Given the description of an element on the screen output the (x, y) to click on. 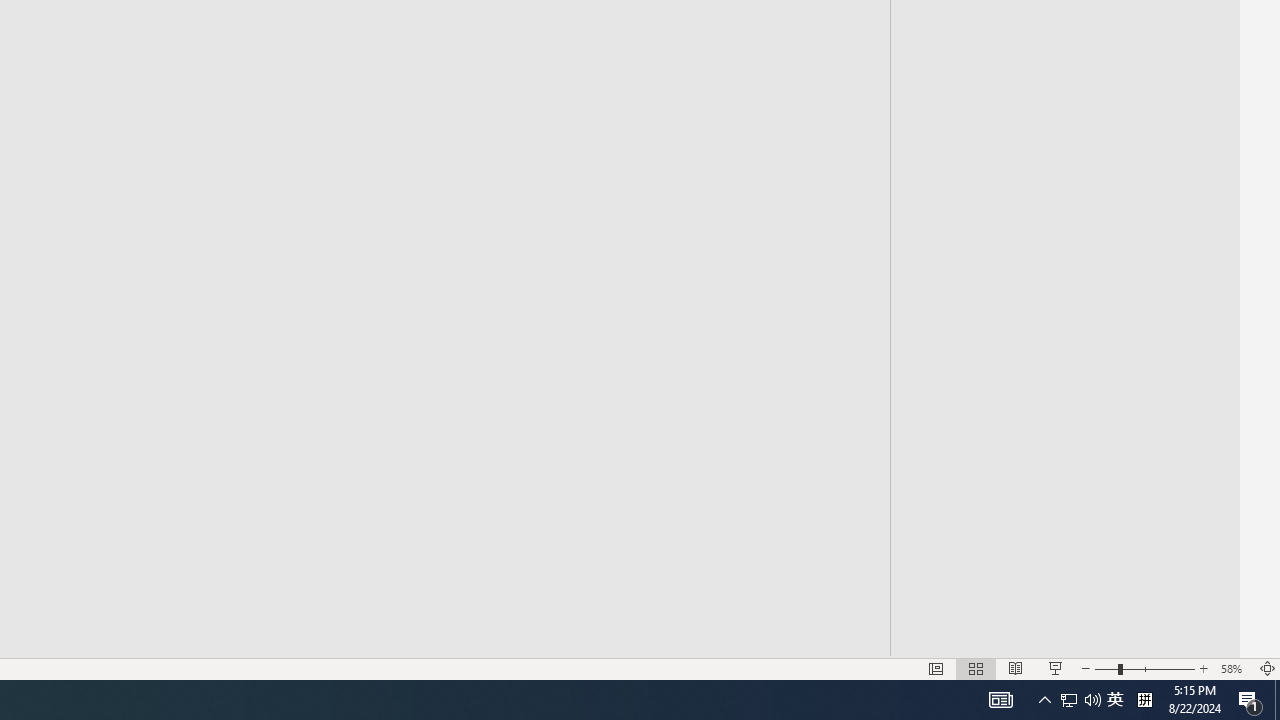
Zoom 58% (1234, 668)
